Given the description of an element on the screen output the (x, y) to click on. 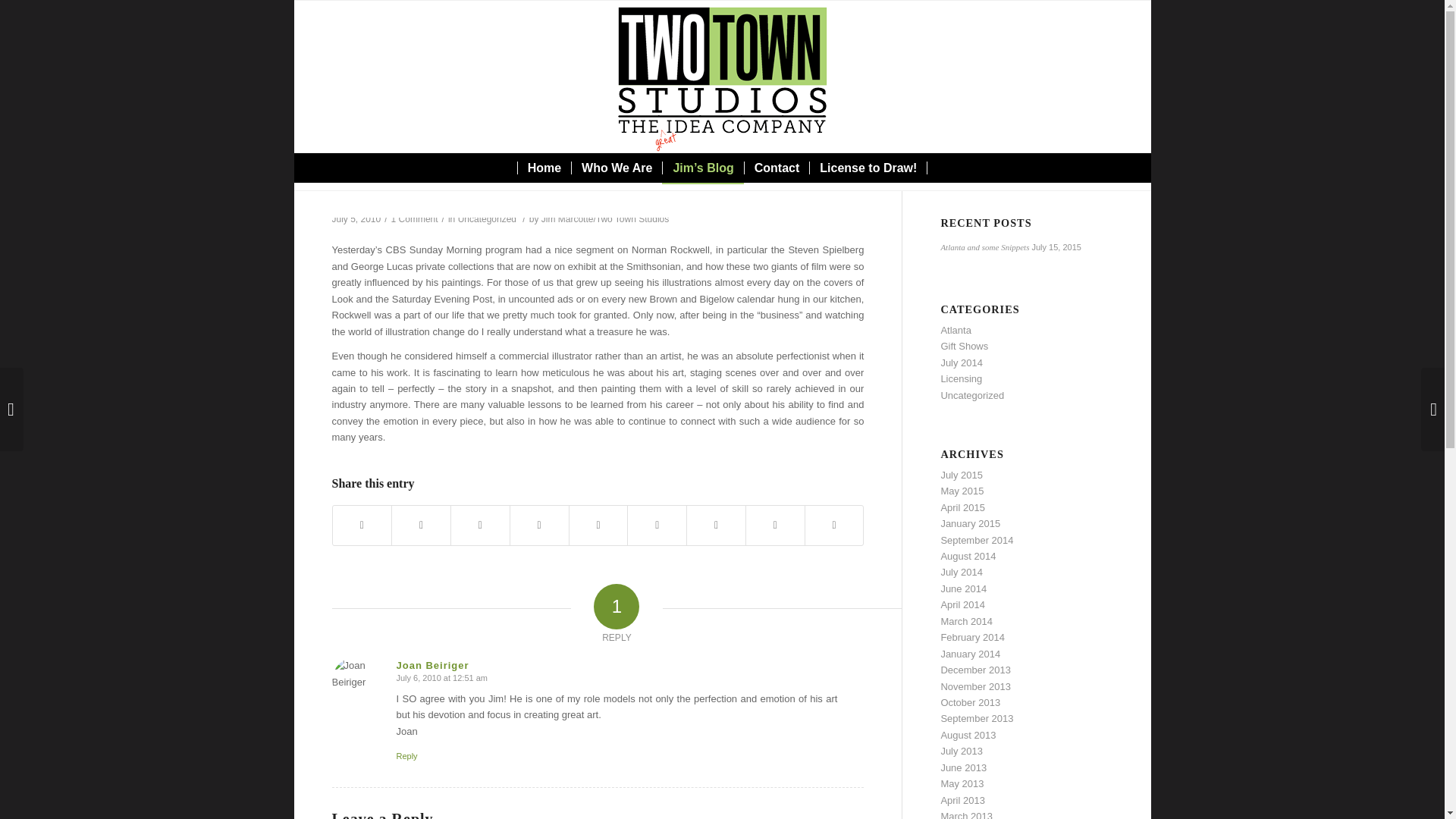
Uncategorized (487, 218)
Joan Beiriger (432, 665)
Contact (776, 167)
July 6, 2010 at 12:51 am (441, 677)
Reply (406, 755)
Who We Are (616, 167)
1 Comment (414, 218)
Home (543, 167)
